Given the description of an element on the screen output the (x, y) to click on. 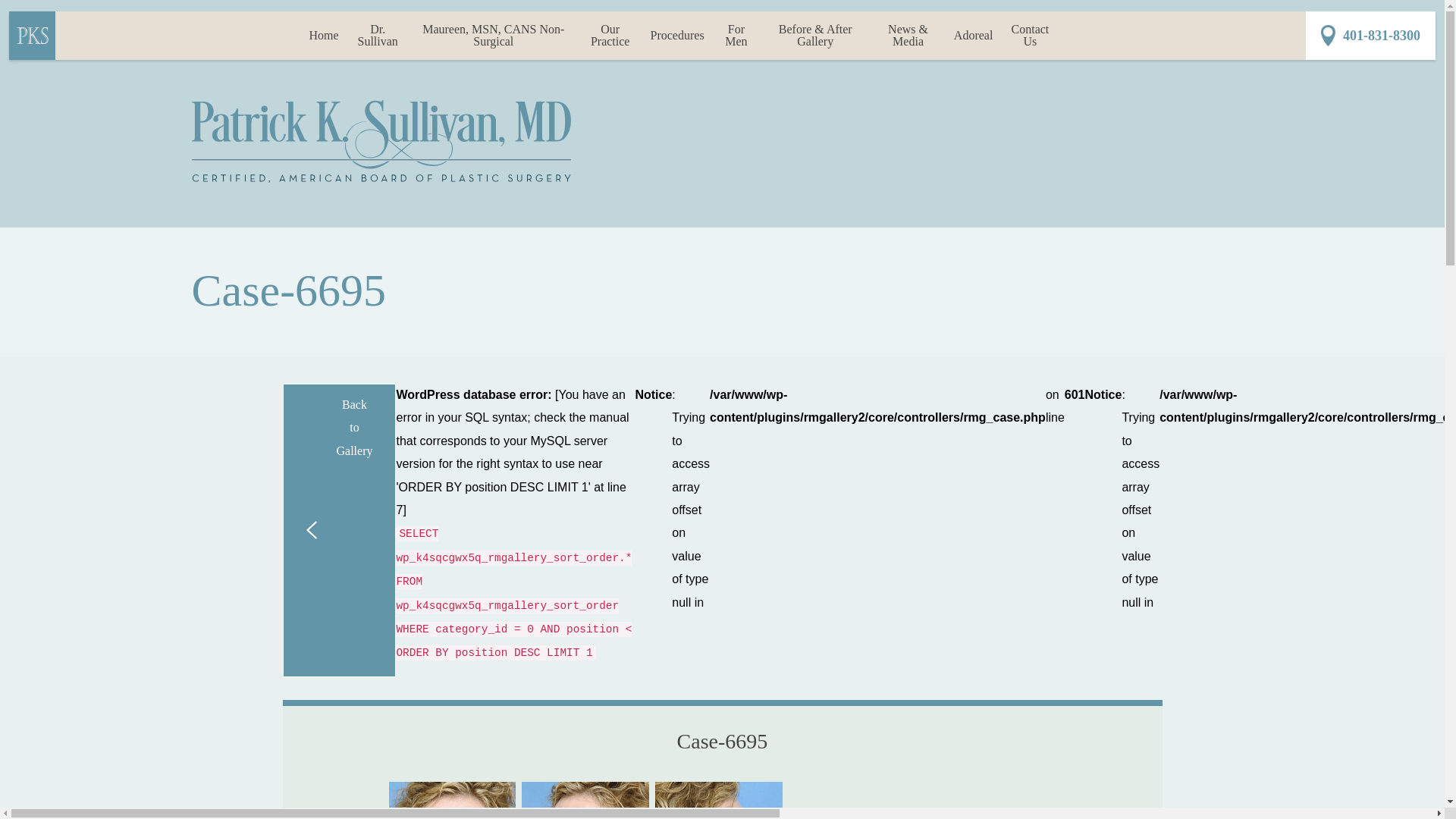
Our Practice (610, 35)
Maureen, MSN, CANS Non-Surgical (493, 35)
Dr. Sullivan (377, 35)
Home (323, 35)
Procedures (677, 35)
